Given the description of an element on the screen output the (x, y) to click on. 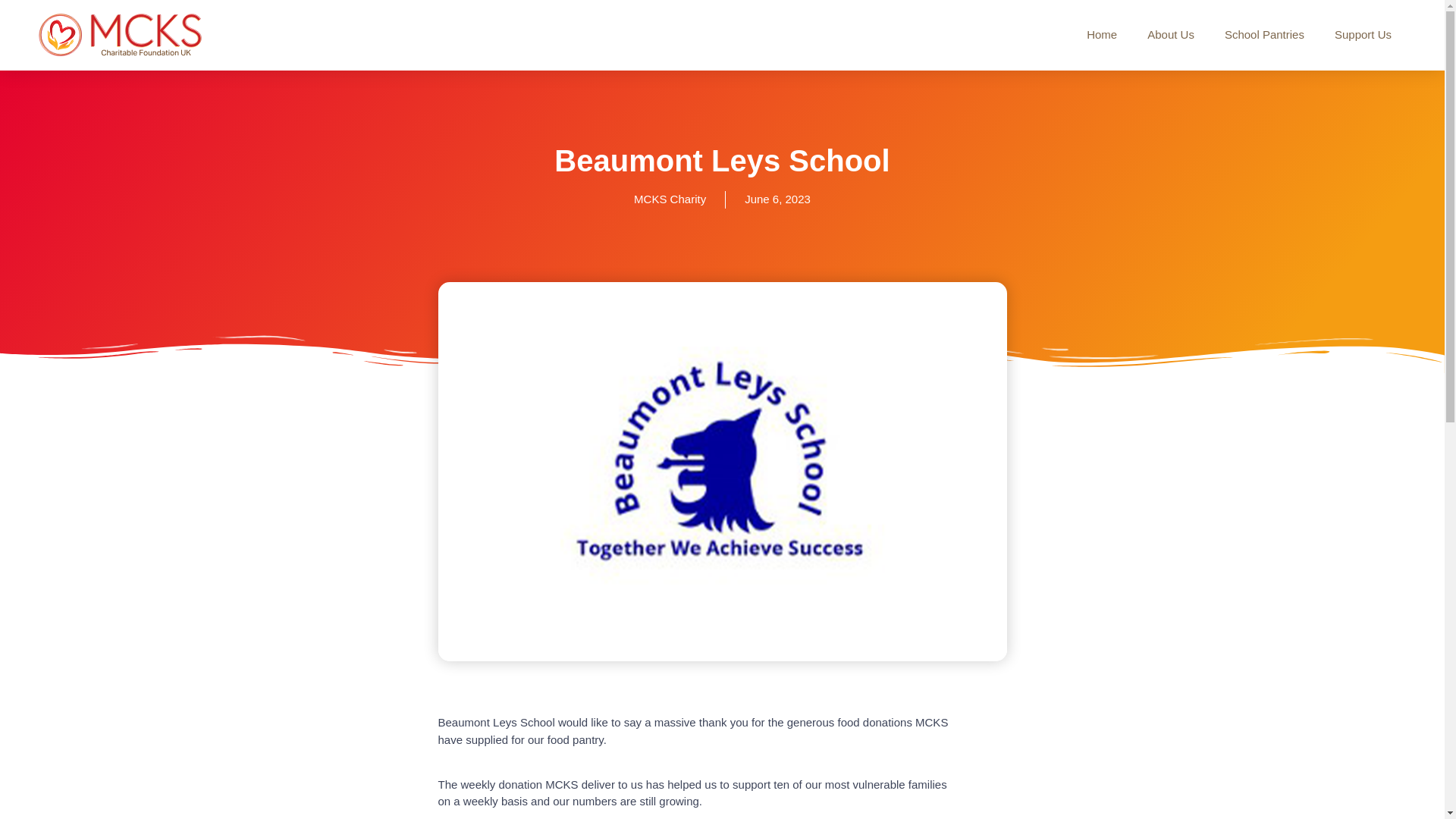
MCKS Charity (669, 199)
School Pantries (1264, 34)
Support Us (1362, 34)
About Us (1170, 34)
June 6, 2023 (777, 199)
